Given the description of an element on the screen output the (x, y) to click on. 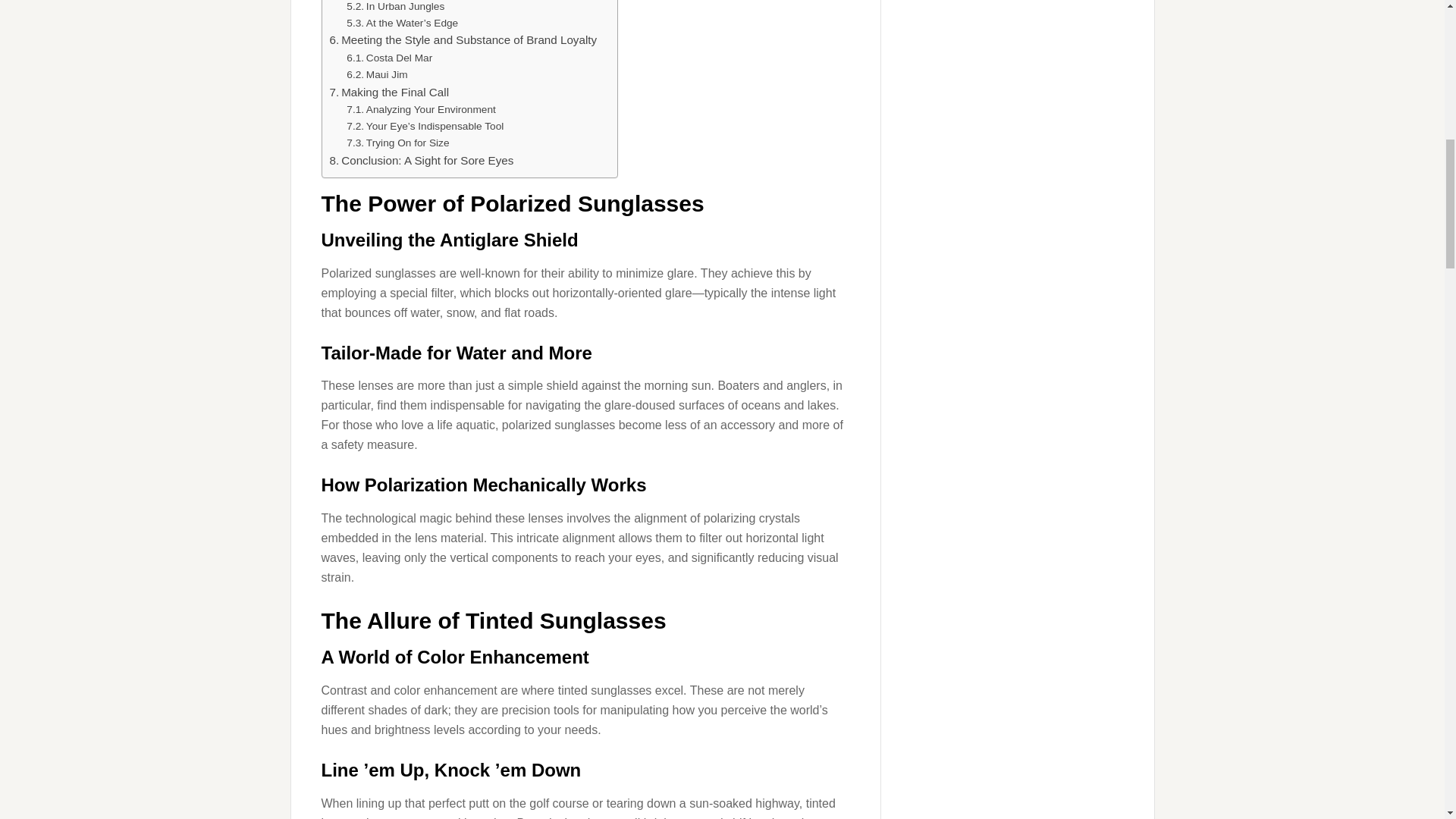
Maui Jim (376, 74)
Making the Final Call (388, 92)
In Urban Jungles (395, 7)
Conclusion: A Sight for Sore Eyes (421, 160)
Meeting the Style and Substance of Brand Loyalty (462, 40)
Trying On for Size (397, 143)
Costa Del Mar (389, 57)
Analyzing Your Environment (421, 109)
